Given the description of an element on the screen output the (x, y) to click on. 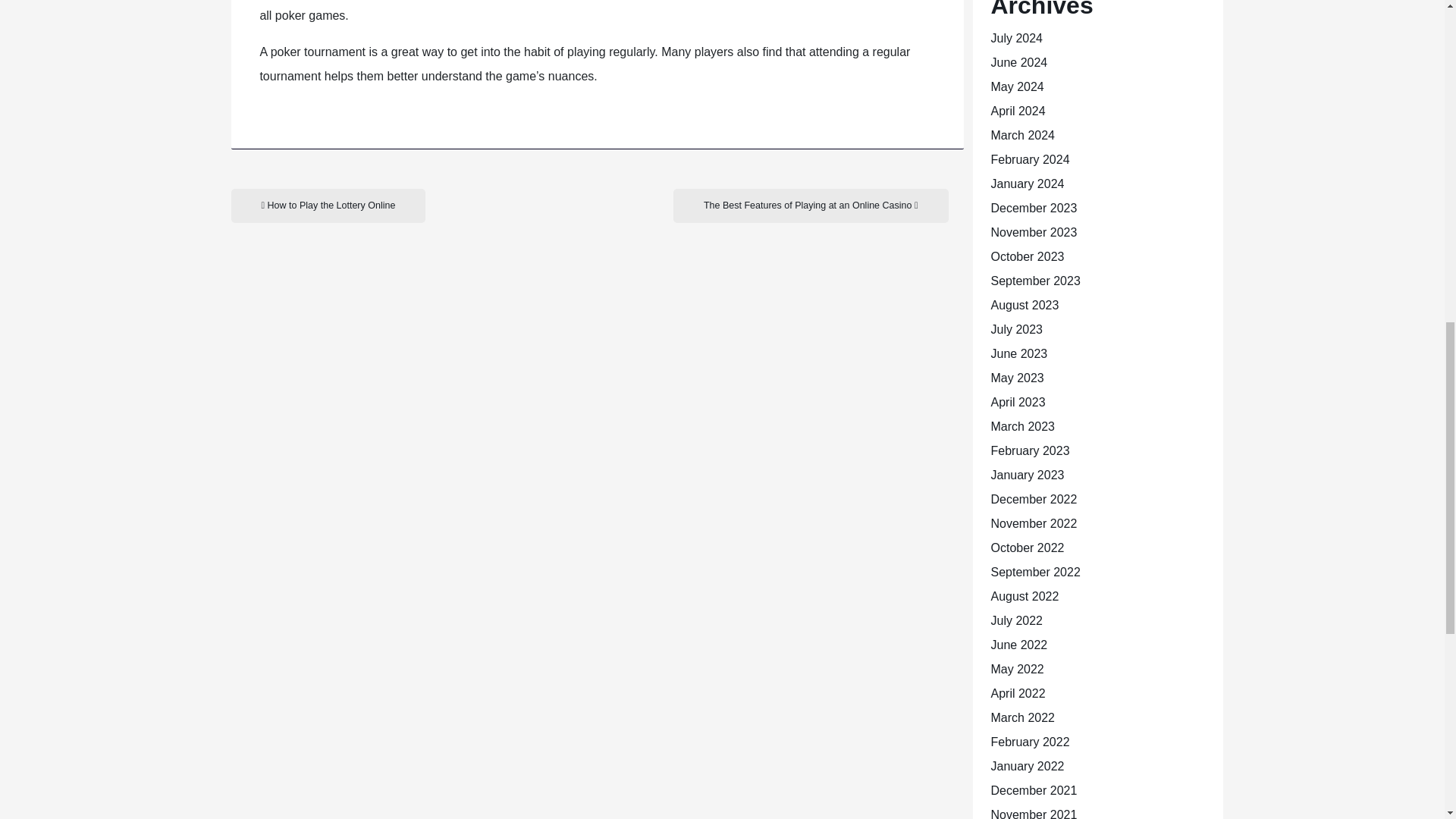
May 2024 (1016, 86)
February 2024 (1029, 159)
How to Play the Lottery Online (327, 205)
November 2023 (1033, 232)
March 2023 (1022, 426)
January 2023 (1027, 474)
August 2022 (1024, 595)
March 2024 (1022, 134)
January 2024 (1027, 183)
August 2023 (1024, 305)
April 2024 (1017, 110)
June 2022 (1018, 644)
June 2023 (1018, 353)
July 2024 (1016, 38)
December 2023 (1033, 207)
